Given the description of an element on the screen output the (x, y) to click on. 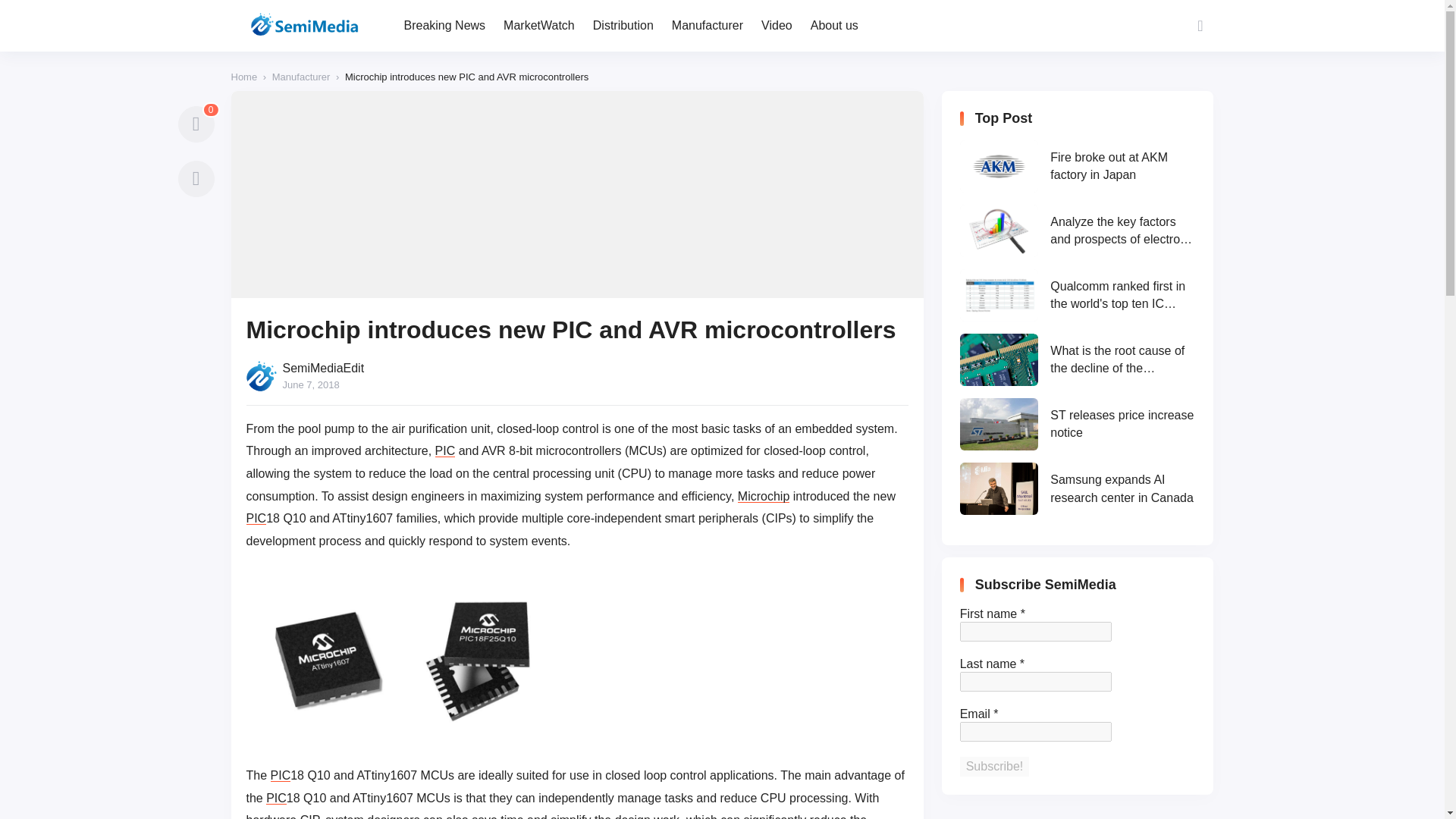
View all posts in PIC (280, 775)
PIC (256, 517)
View all posts in PIC (276, 797)
PIC (276, 797)
View all posts in Microchip (763, 495)
PIC (280, 775)
View all posts in PIC (256, 517)
About us (834, 25)
Breaking News (443, 25)
